Given the description of an element on the screen output the (x, y) to click on. 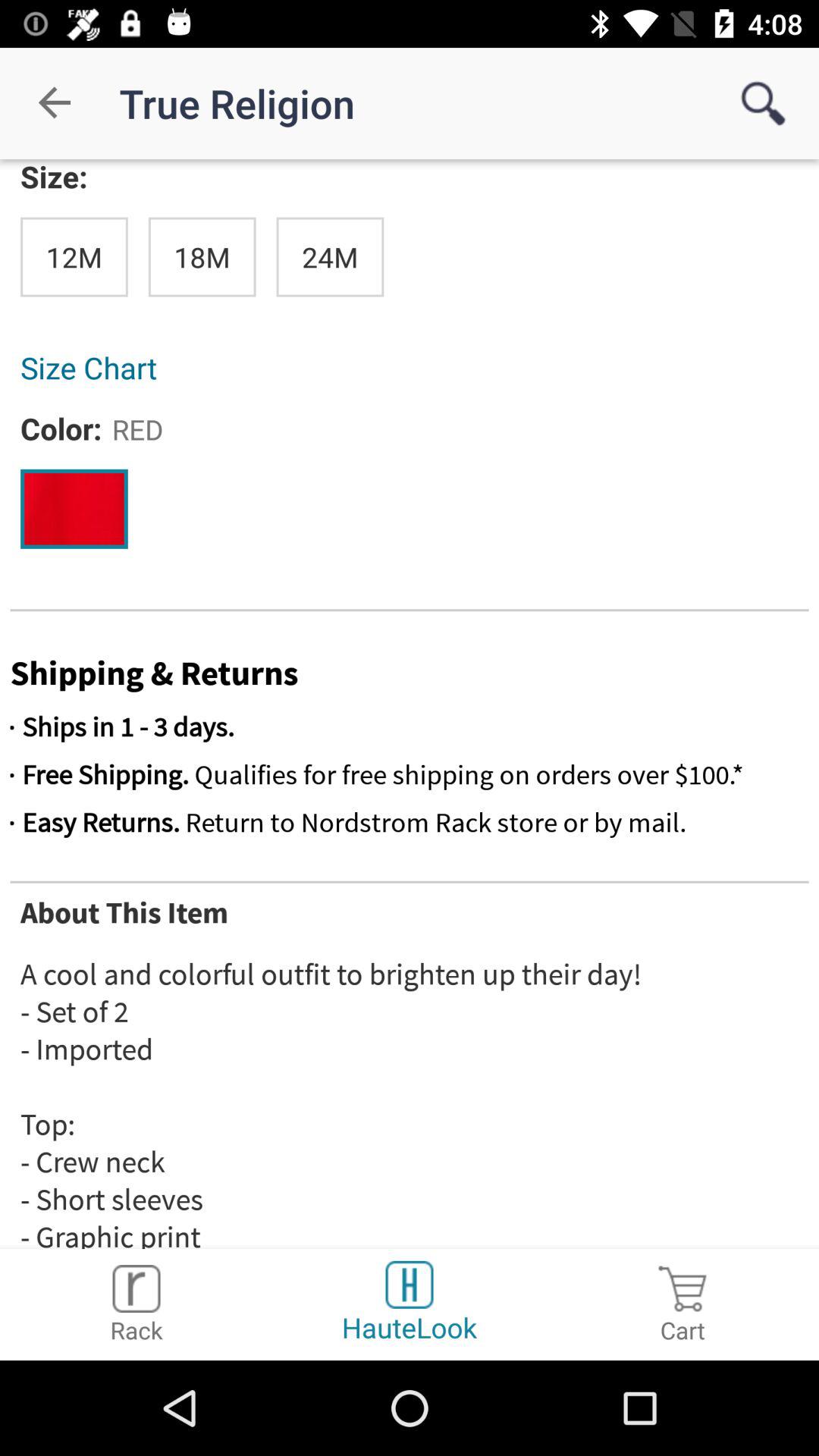
press icon next to 24m icon (201, 256)
